Given the description of an element on the screen output the (x, y) to click on. 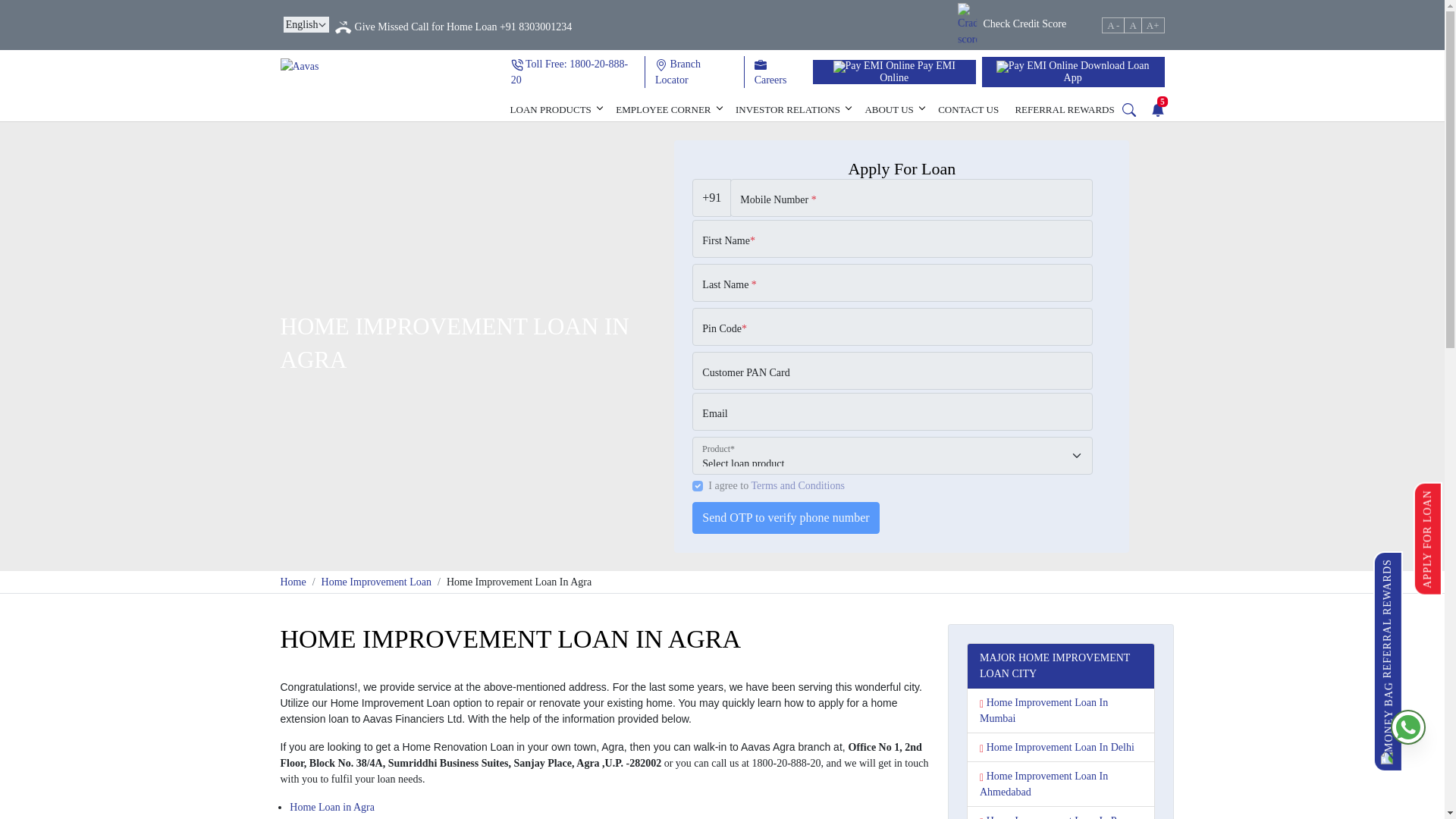
Branch Locator (677, 71)
INVESTOR RELATIONS (792, 108)
Check Credit Score (1011, 23)
Pay EMI Online (893, 71)
Toll Free: 1800-20-888-20 (569, 71)
on (698, 485)
LOAN PRODUCTS (554, 108)
A (1132, 25)
EMPLOYEE CORNER (667, 108)
Careers (770, 71)
